Given the description of an element on the screen output the (x, y) to click on. 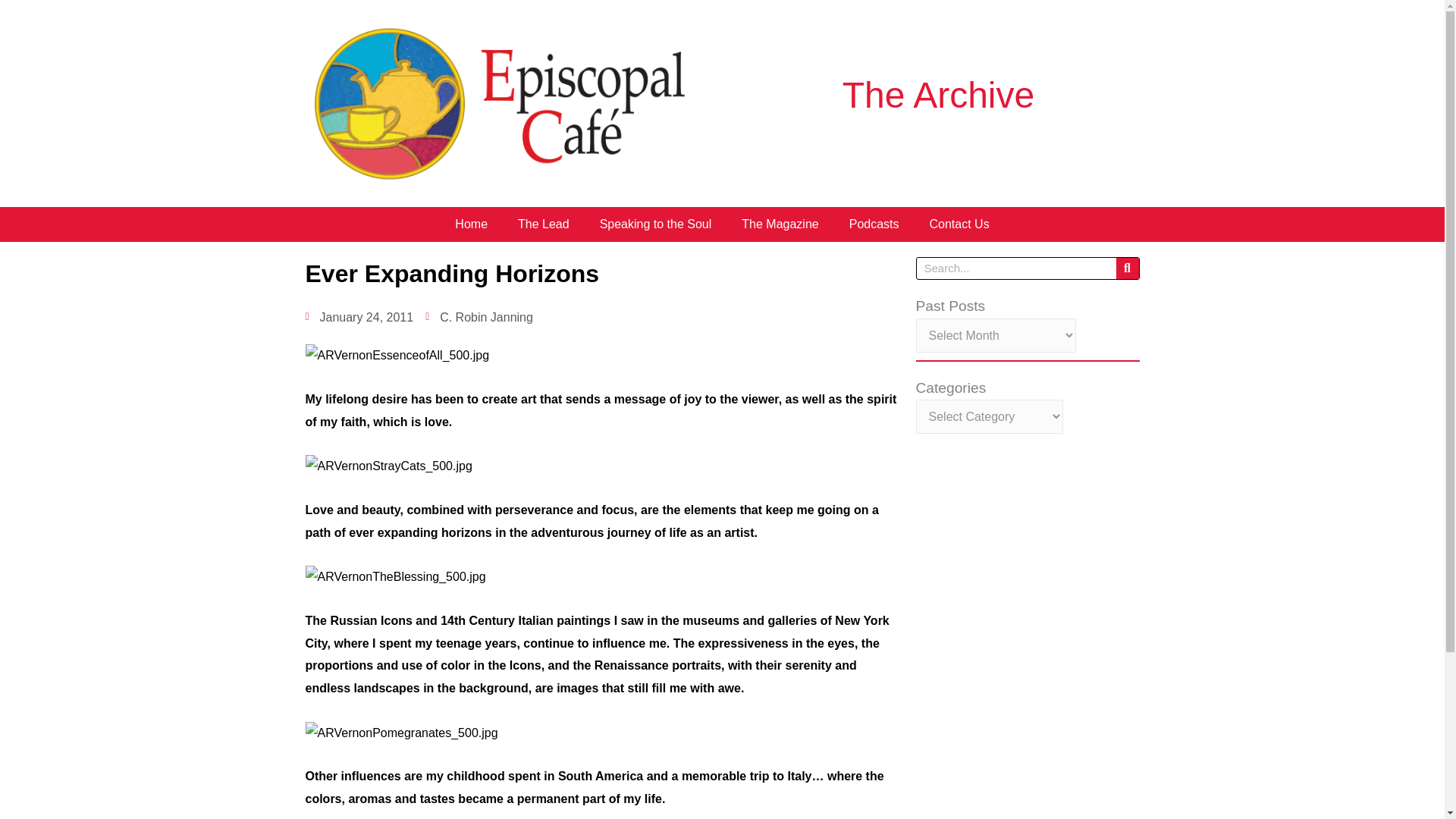
January 24, 2011 (358, 317)
The Lead (543, 224)
Podcasts (874, 224)
Contact Us (959, 224)
Speaking to the Soul (655, 224)
Home (470, 224)
C. Robin Janning (478, 317)
The Magazine (779, 224)
Search (1127, 268)
